Given the description of an element on the screen output the (x, y) to click on. 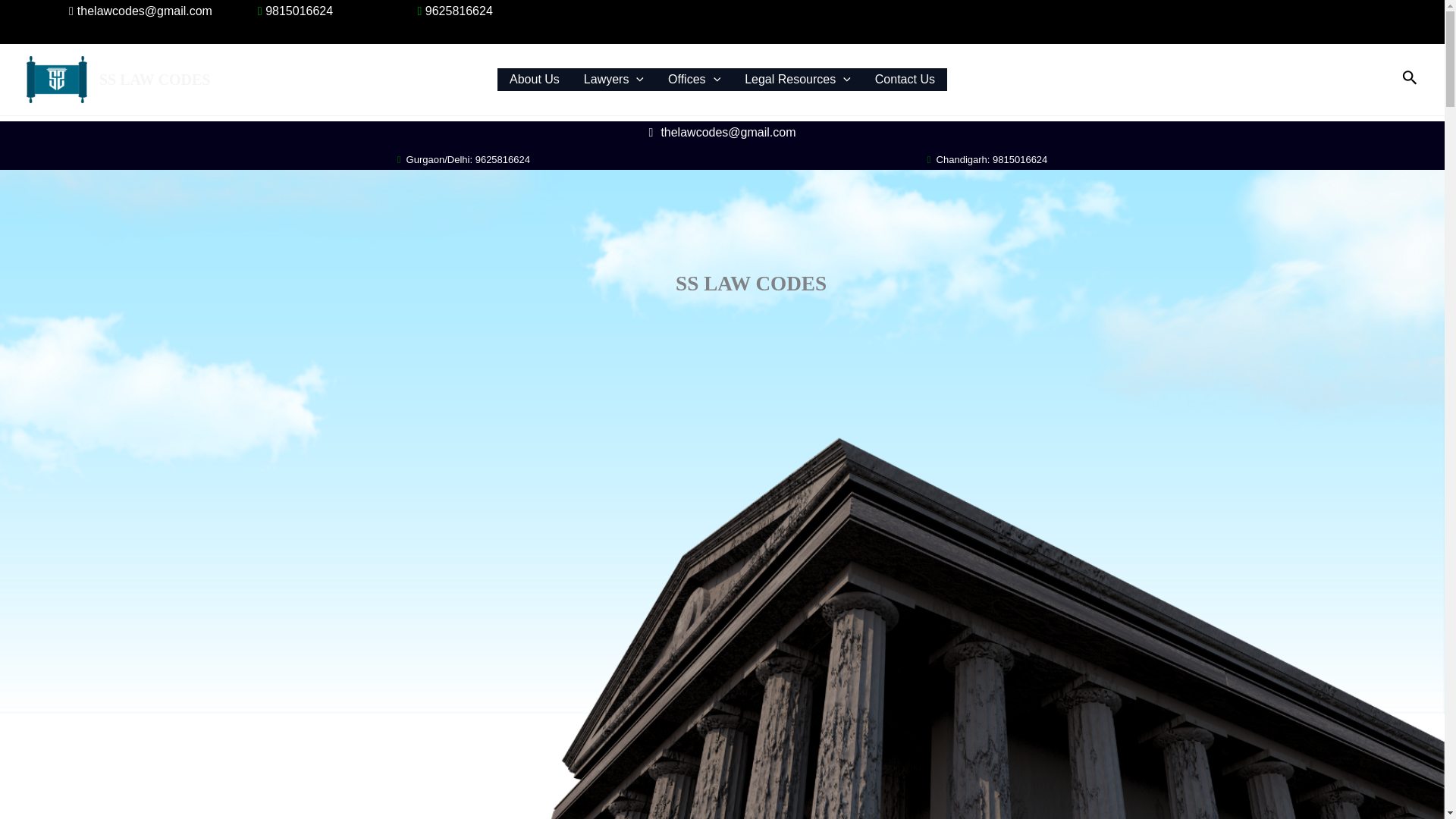
Offices (694, 78)
About Us (534, 78)
SS LAW CODES (154, 79)
 9625816624 (452, 11)
Contact Us (905, 78)
 9815016624 (292, 11)
Lawyers (614, 78)
Legal Resources (797, 78)
